Given the description of an element on the screen output the (x, y) to click on. 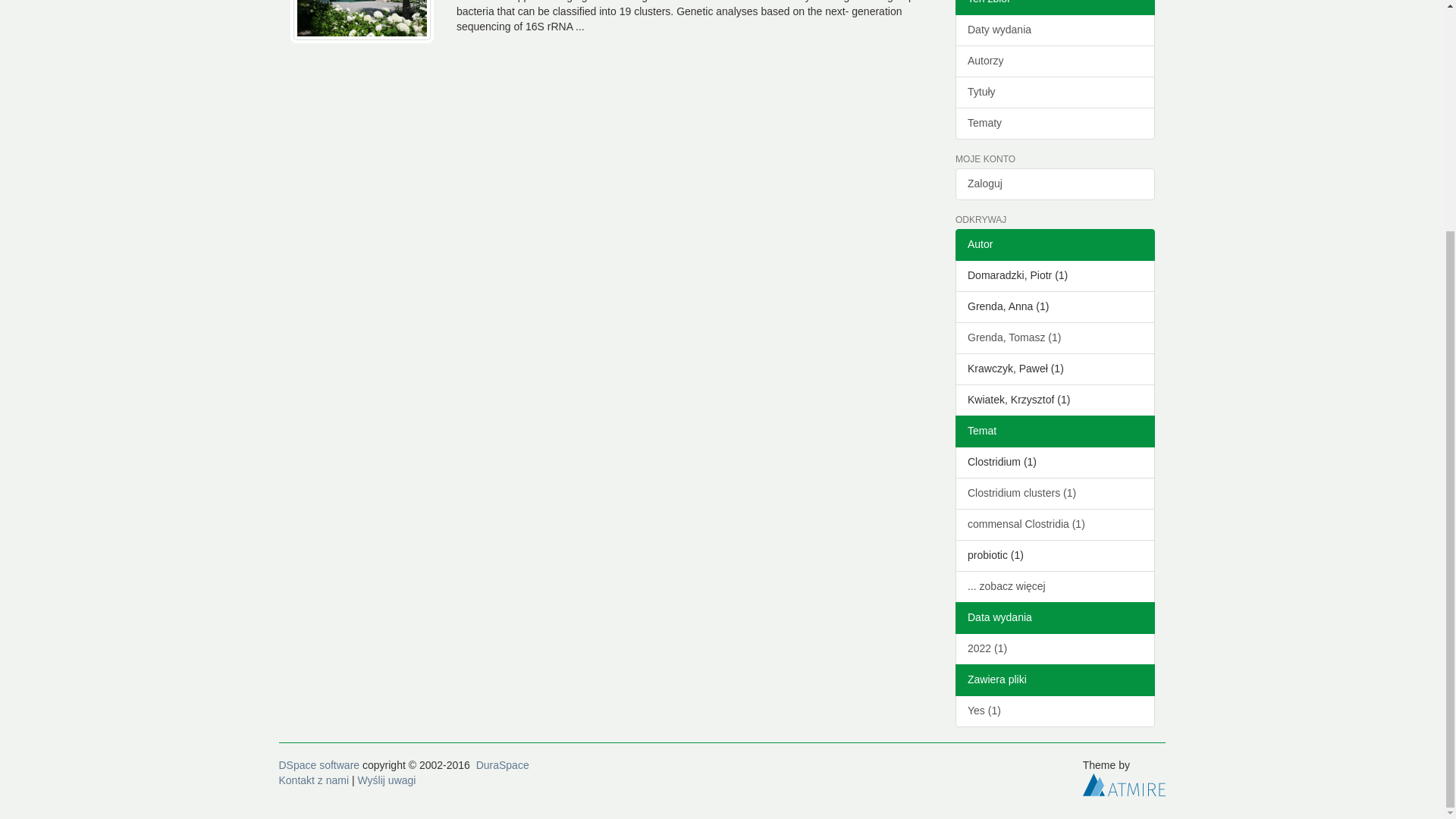
Atmire NV (1124, 784)
